Given the description of an element on the screen output the (x, y) to click on. 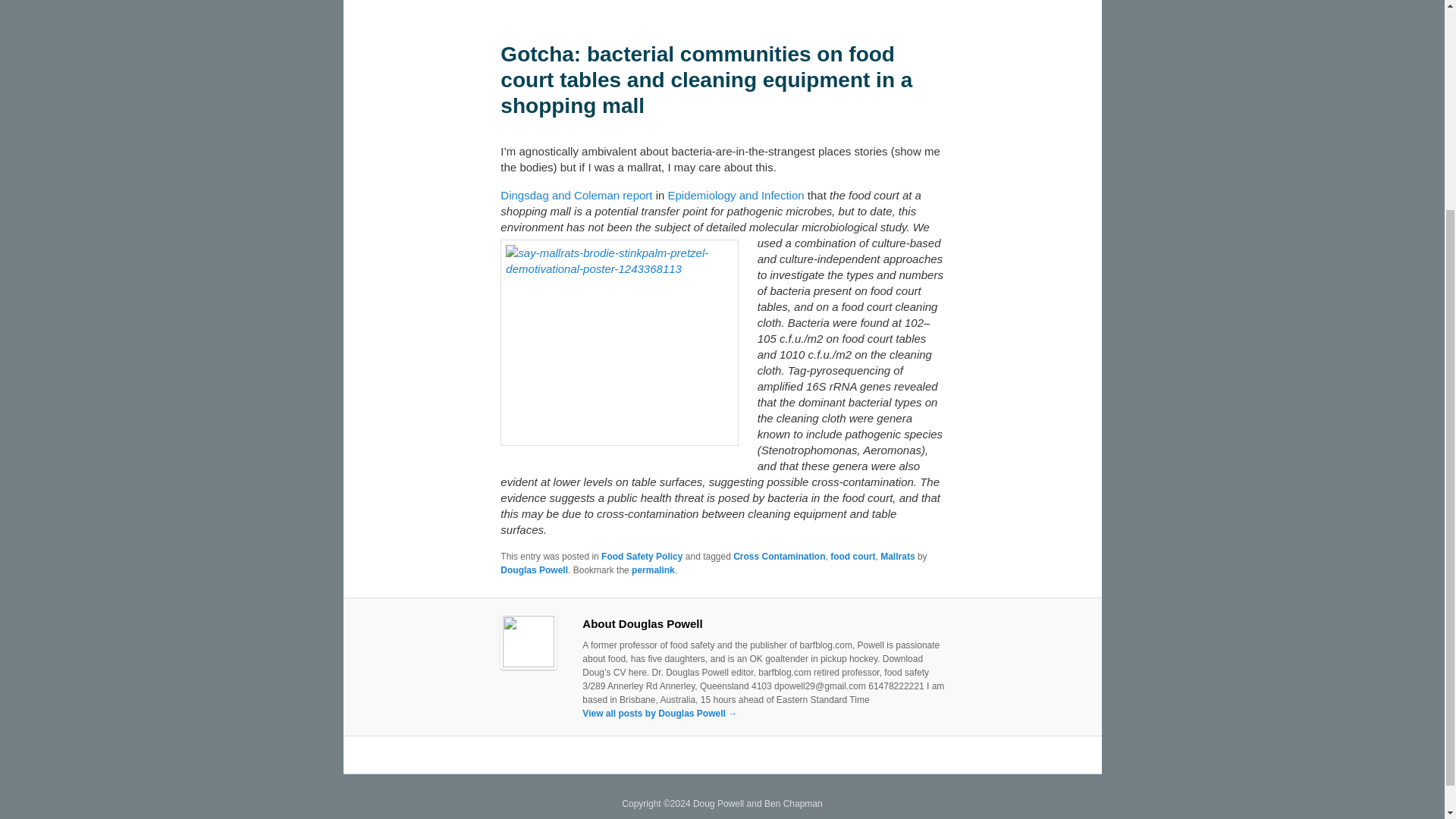
Dingsdag and Coleman report (576, 195)
Epidemiology and Infection (734, 195)
